Given the description of an element on the screen output the (x, y) to click on. 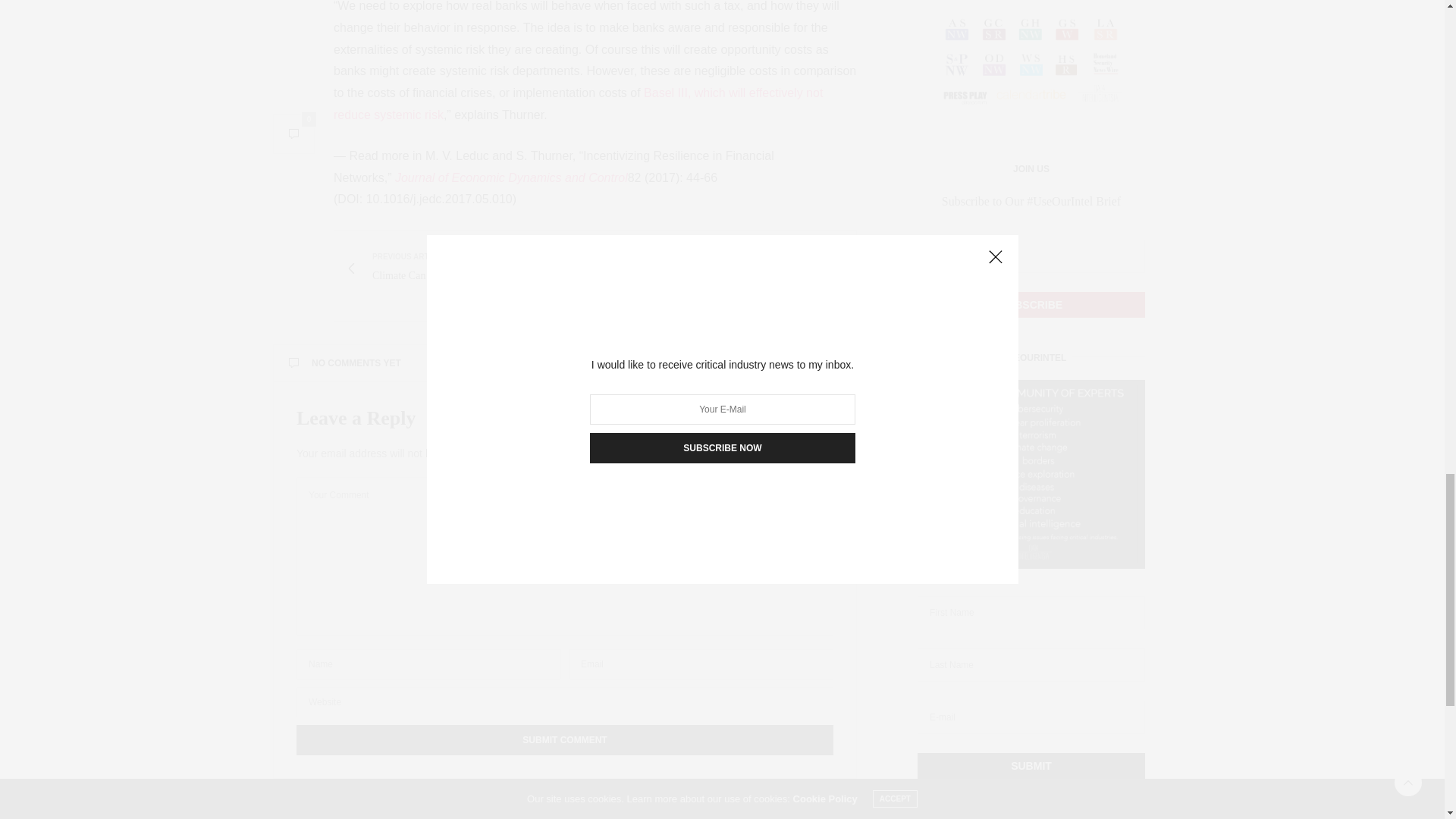
Journal of Economic Dynamics and Control (510, 177)
Submit Comment (564, 739)
Basel III, which will effectively not reduce systemic risk (577, 103)
